Given the description of an element on the screen output the (x, y) to click on. 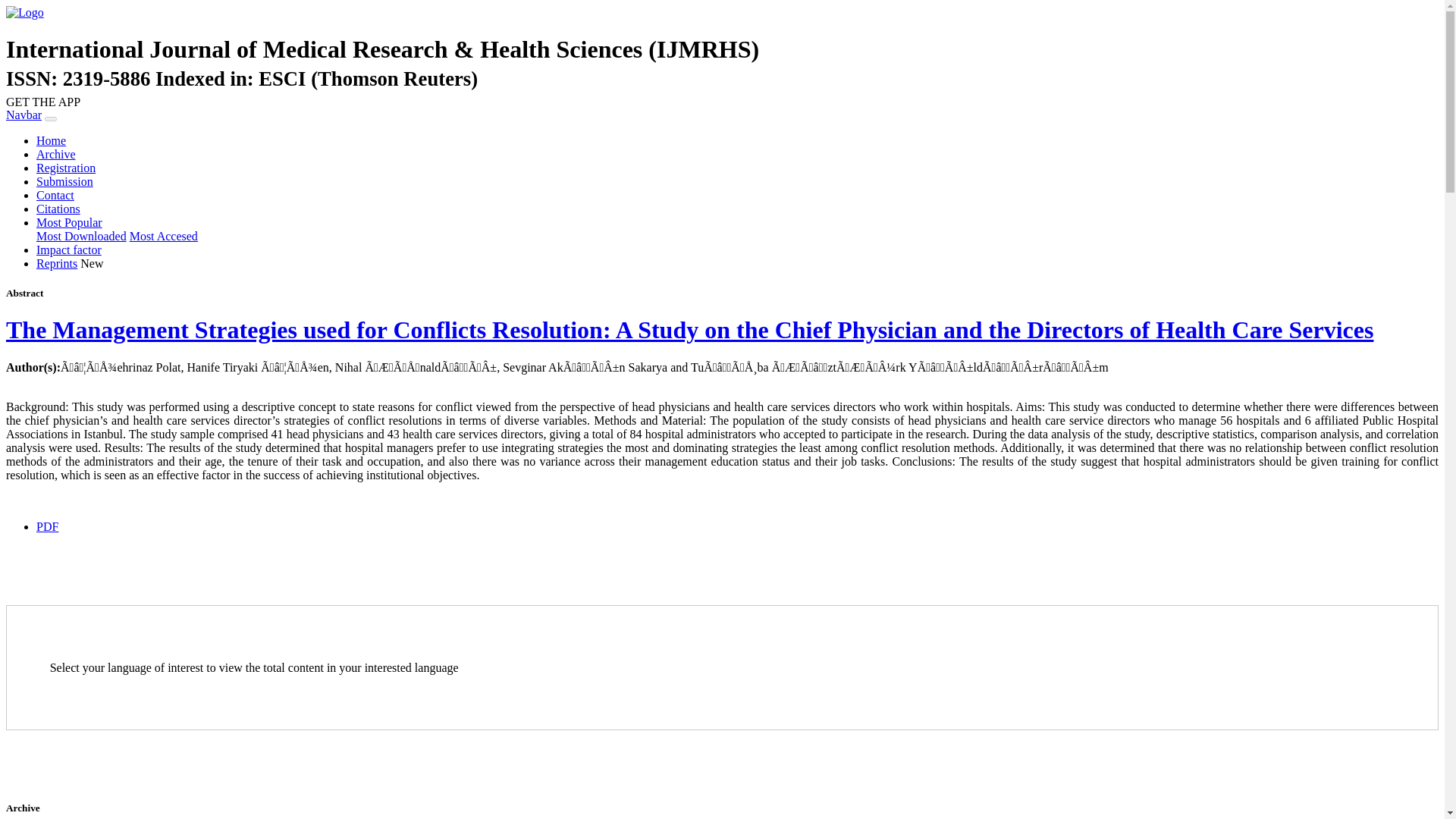
Most Popular (68, 222)
PDF (47, 526)
Contact (55, 195)
Citations (58, 208)
Home (50, 140)
Click here (56, 263)
Click here (66, 167)
Click here (81, 236)
Impact factor (68, 249)
PDF (47, 526)
